Given the description of an element on the screen output the (x, y) to click on. 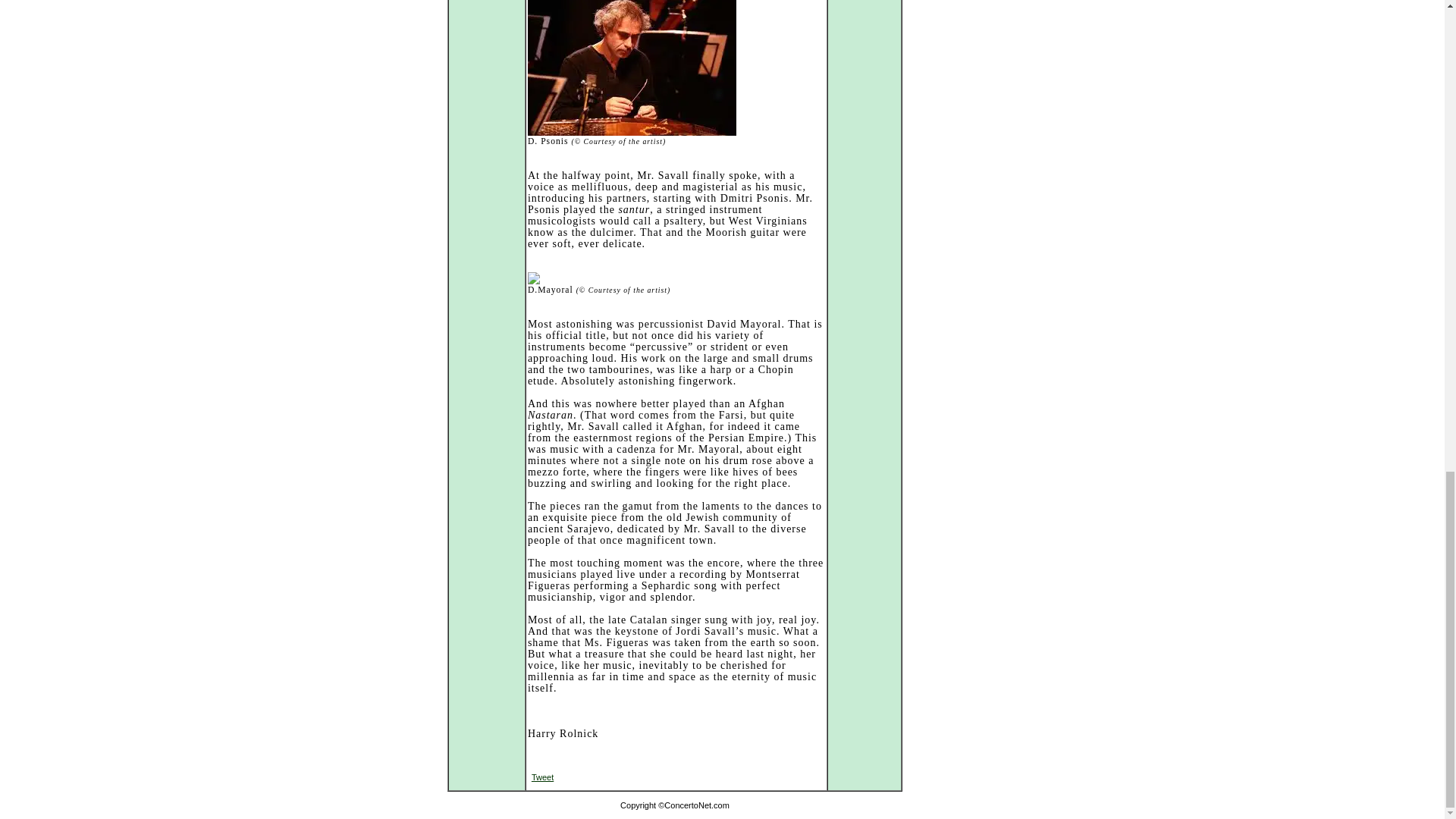
Tweet (542, 777)
